Given the description of an element on the screen output the (x, y) to click on. 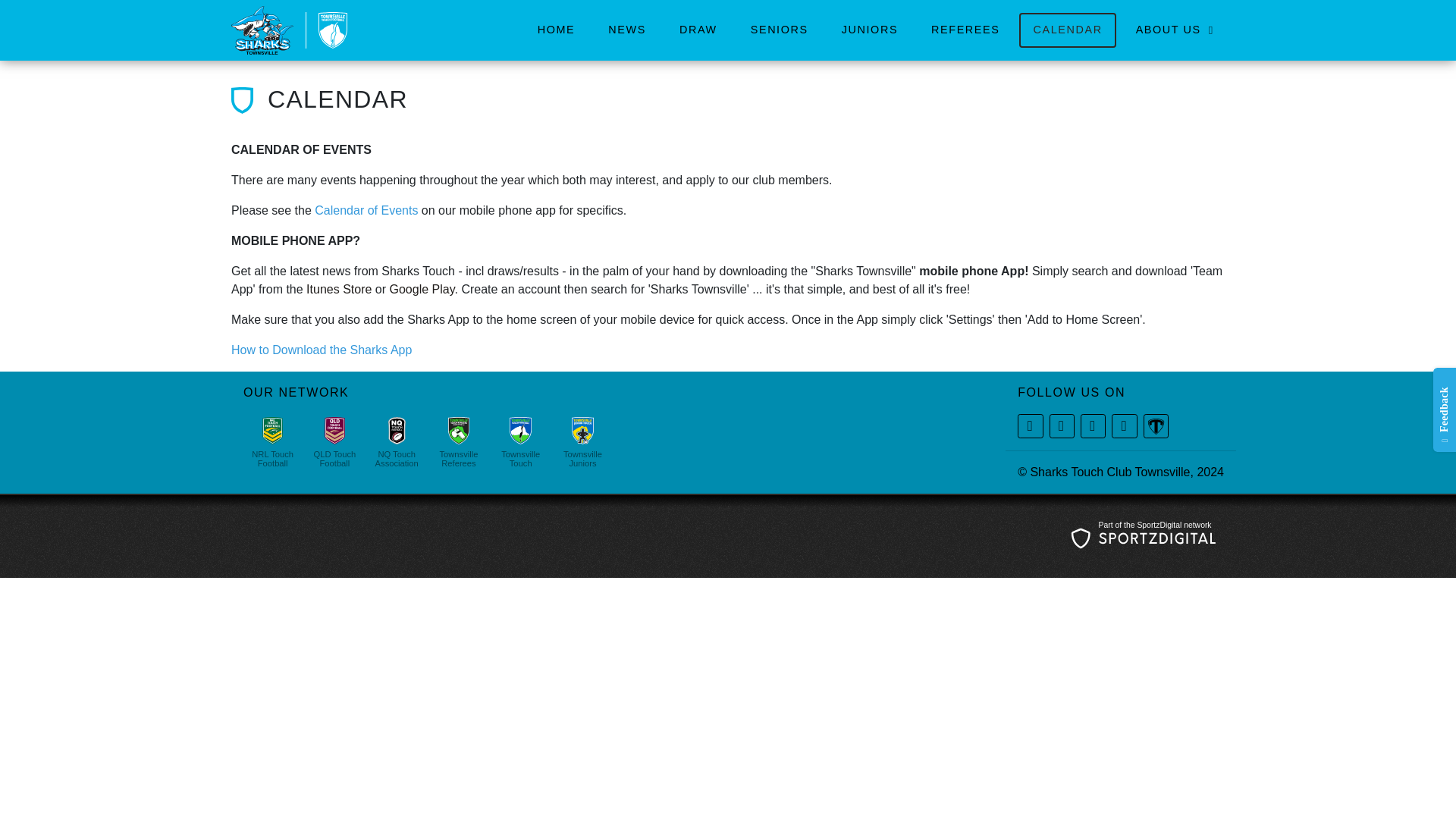
HOME (556, 30)
Townsville Referees (458, 441)
NEWS (626, 30)
Google Play (422, 288)
NRL Touch Football (272, 441)
Townsville Touch (520, 441)
How to Download the Sharks App (321, 349)
QLD Touch Football (334, 441)
DRAW (697, 30)
JUNIORS (869, 30)
Townsville Juniors (582, 441)
REFEREES (965, 30)
ABOUT US (1171, 30)
Calendar of Events (365, 210)
CALENDAR (1067, 30)
